Given the description of an element on the screen output the (x, y) to click on. 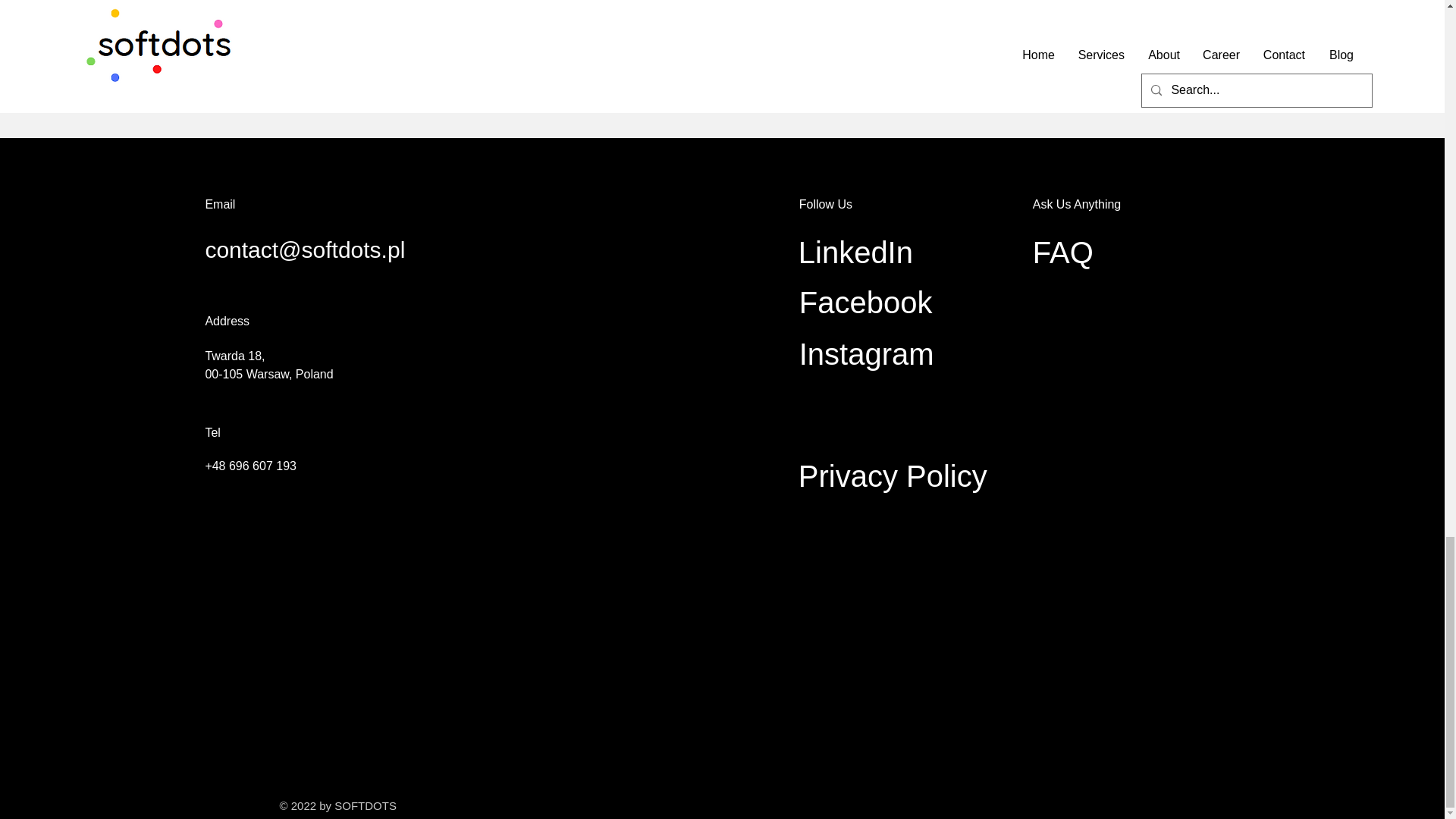
Facebook (866, 302)
Privacy Policy (892, 476)
LinkedIn (854, 252)
FAQ (1062, 252)
Instagram (866, 354)
